Given the description of an element on the screen output the (x, y) to click on. 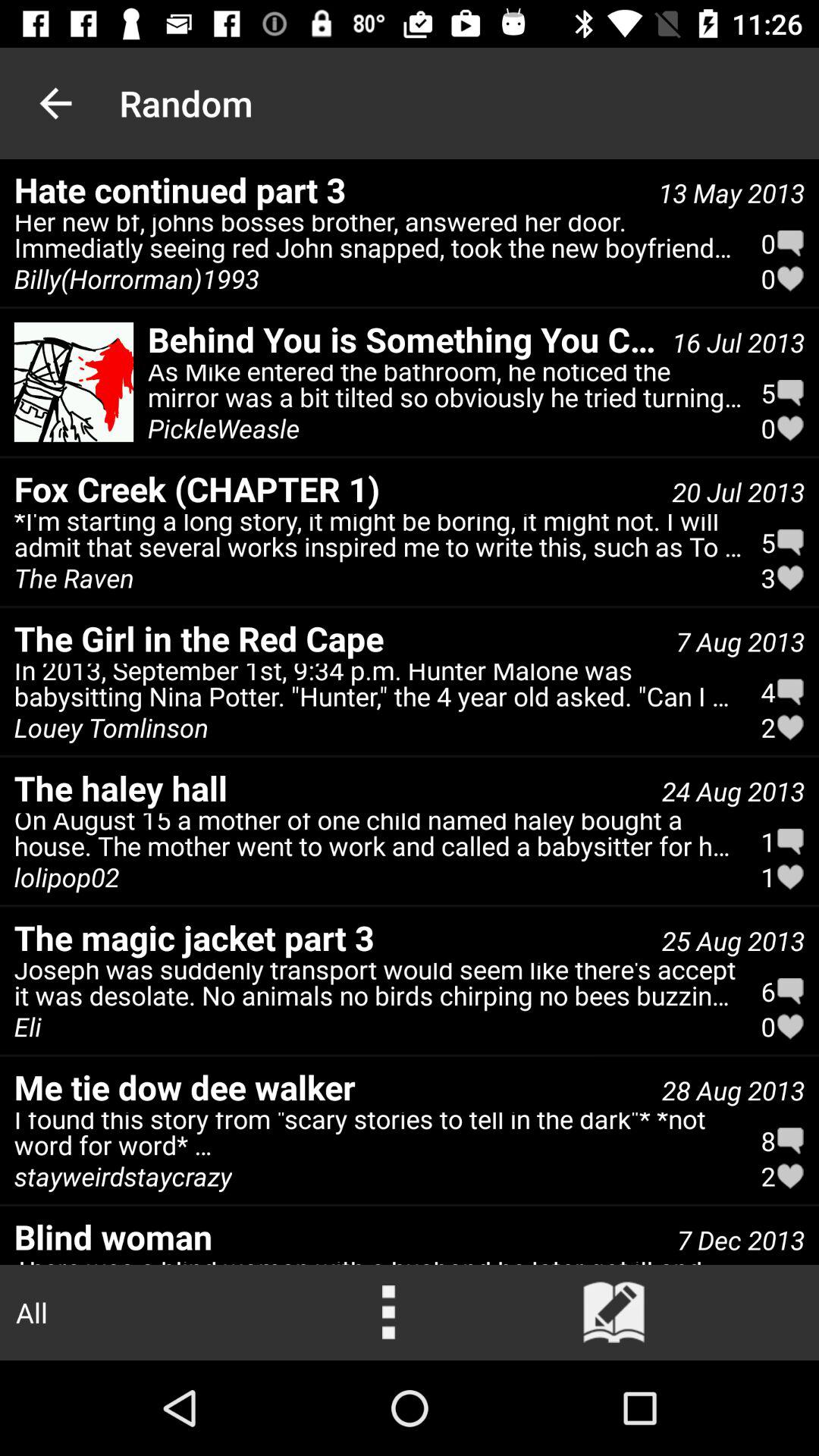
open item next to random (55, 103)
